Given the description of an element on the screen output the (x, y) to click on. 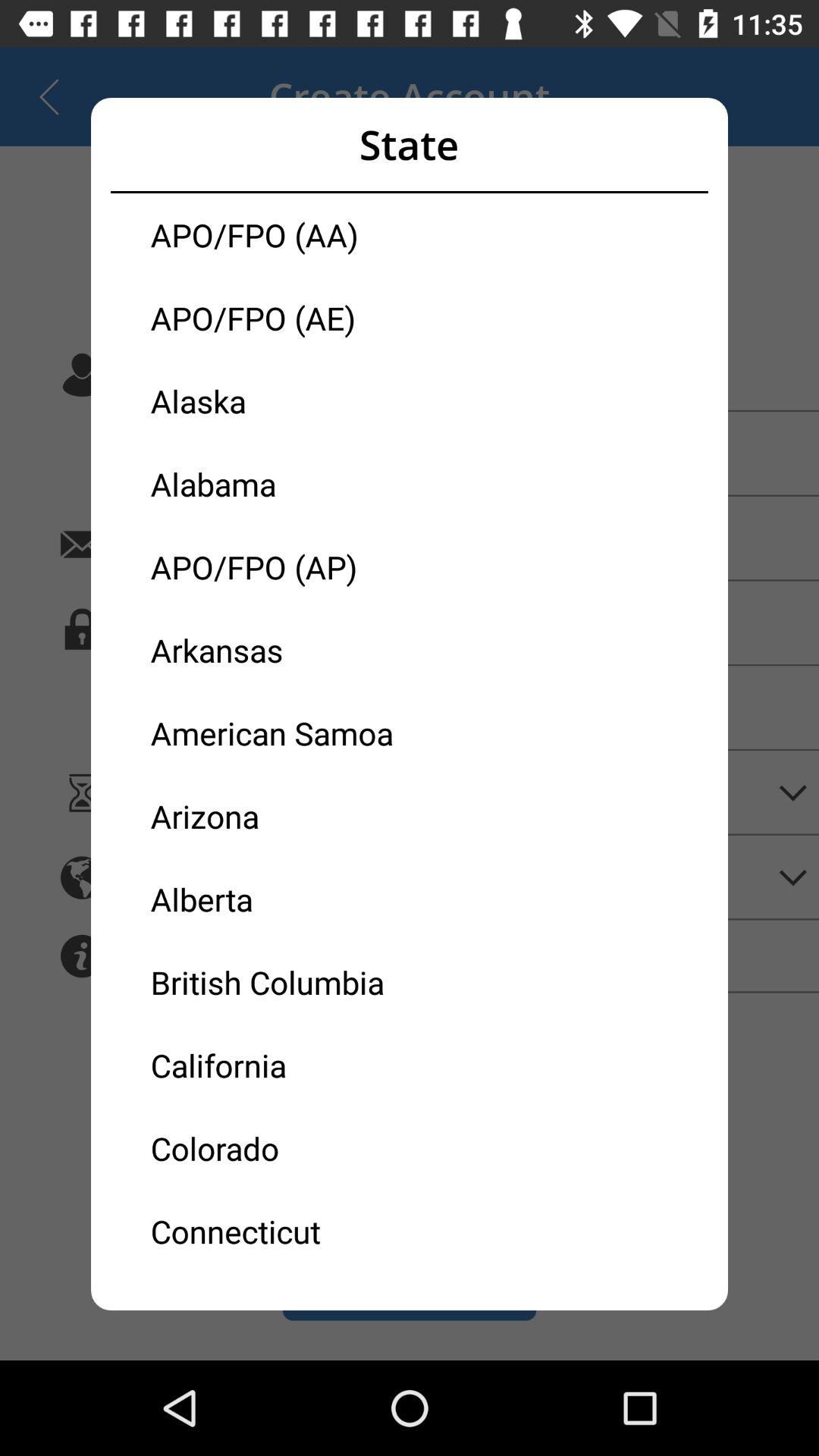
choose item below the apo/fpo (ap) (279, 649)
